Given the description of an element on the screen output the (x, y) to click on. 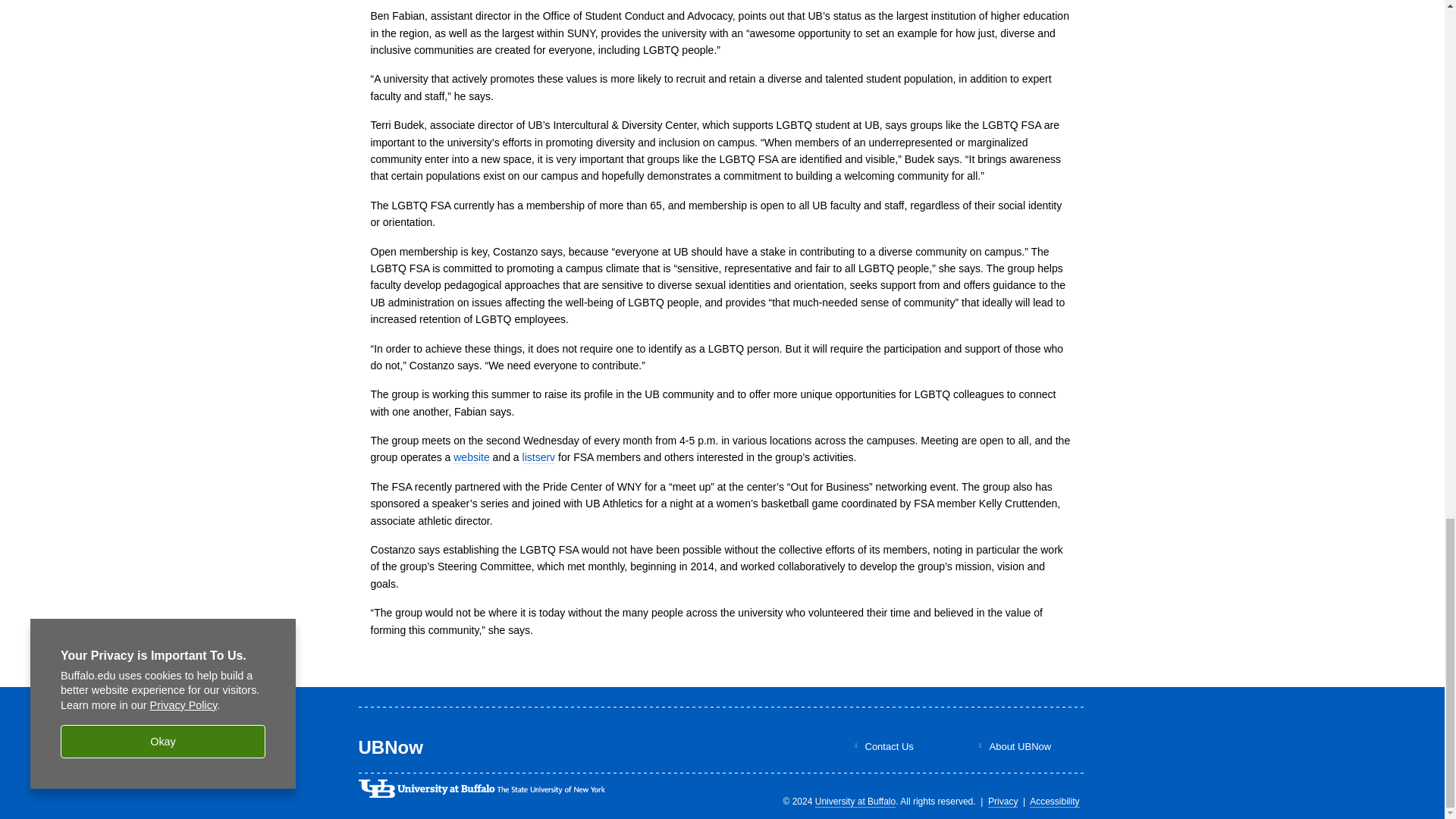
Accessibility (1053, 801)
About UBNow (1019, 746)
website (470, 457)
Privacy (1002, 801)
University at Buffalo (855, 801)
listserv (539, 457)
Contact Us (888, 746)
